Given the description of an element on the screen output the (x, y) to click on. 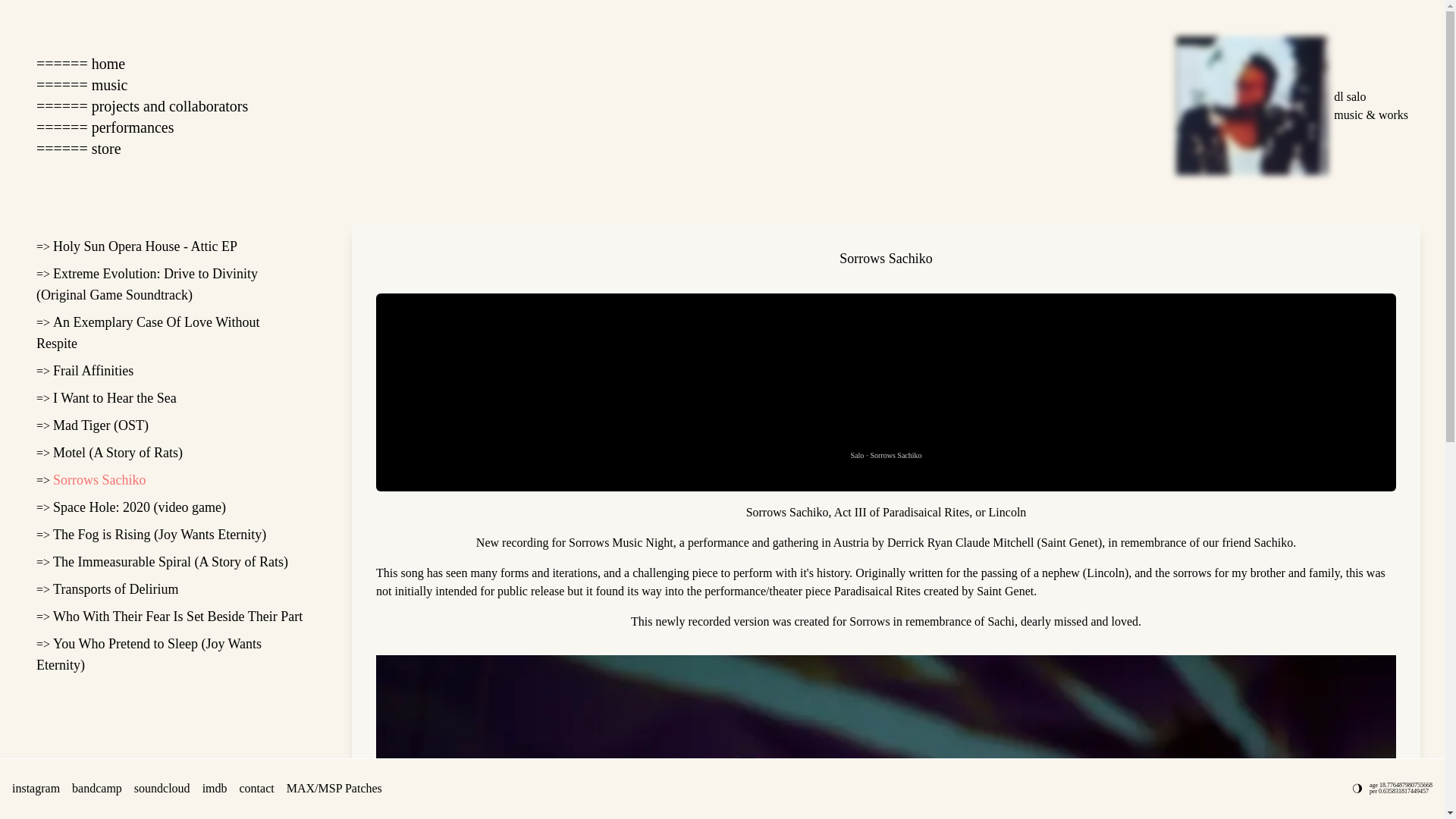
Holy Sun Opera House - Attic EP (144, 246)
Sorrows Sachiko (895, 455)
bandcamp (96, 788)
Sorrows Sachiko (895, 455)
contact (257, 788)
Frail Affinities (92, 370)
An Exemplary Case Of Love Without Respite (147, 332)
Saint Genet (1069, 542)
Who With Their Fear Is Set Beside Their Part (177, 616)
I Want to Hear the Sea (114, 397)
Salo (856, 455)
instagram (35, 788)
soundcloud (161, 788)
Sorrows Sachiko (99, 479)
Salo (856, 455)
